Given the description of an element on the screen output the (x, y) to click on. 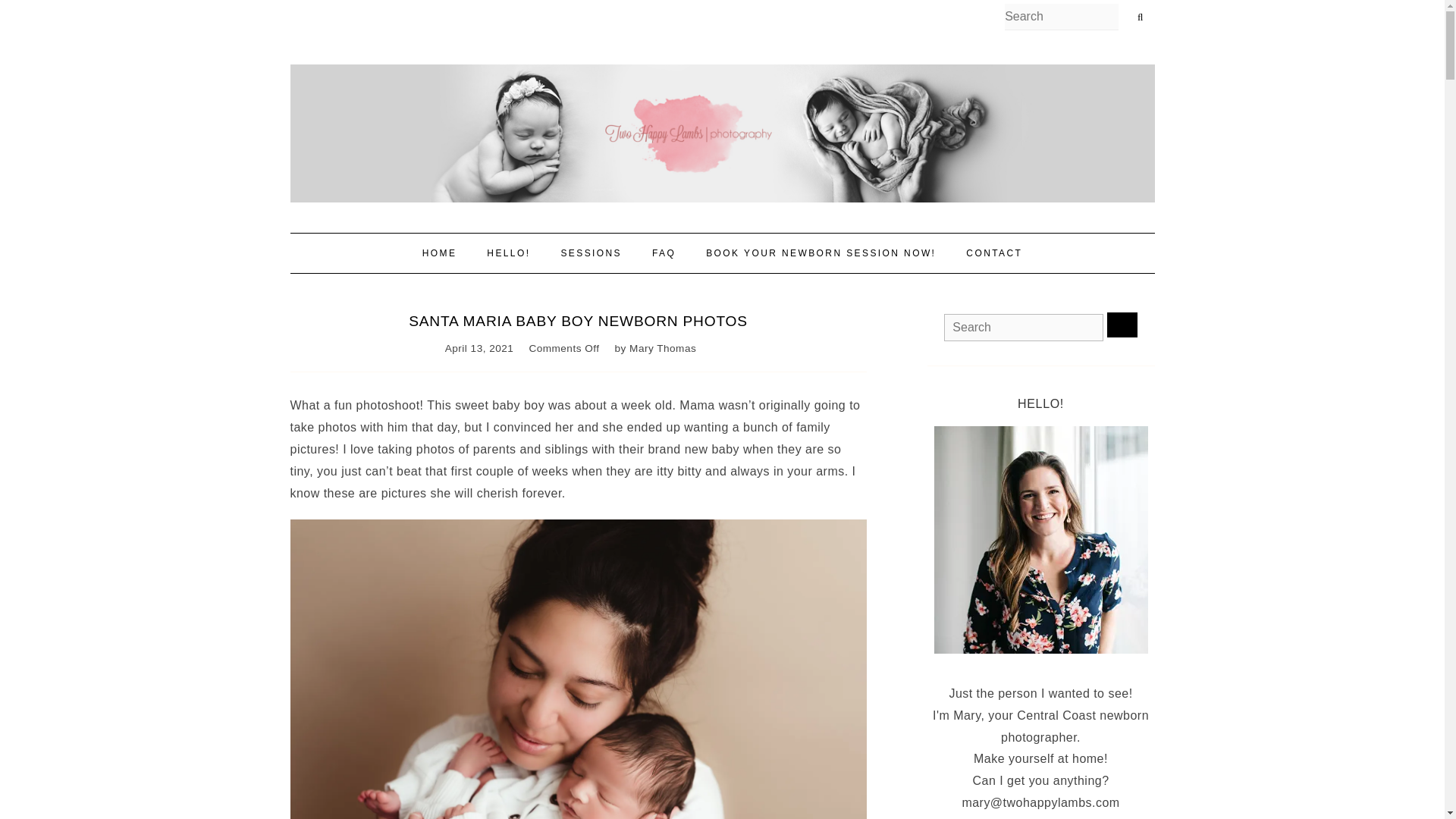
Two Happy Lambs Newborn Photography (721, 133)
SESSIONS (590, 252)
SANTA MARIA BABY BOY NEWBORN PHOTOS (578, 320)
FAQ (663, 252)
Santa Maria Baby Boy Newborn Photos (578, 320)
HELLO! (507, 252)
BOOK YOUR NEWBORN SESSION NOW! (820, 252)
HOME (439, 252)
CONTACT (993, 252)
